Given the description of an element on the screen output the (x, y) to click on. 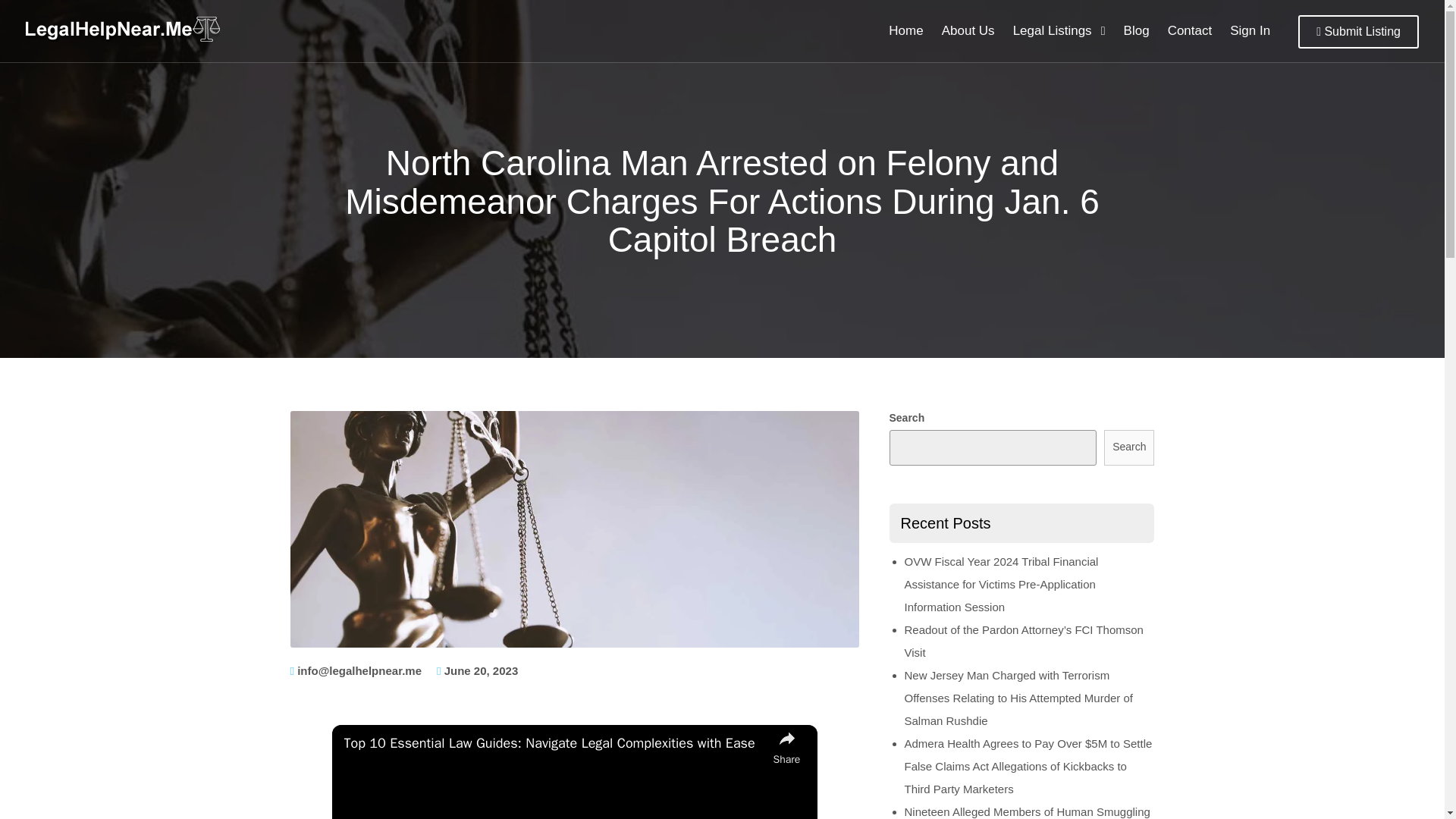
About Us (968, 31)
Contact (1189, 31)
Legal Listings (1059, 31)
Sign In (1250, 31)
June 20, 2023 (481, 670)
Search (1128, 447)
Submit Listing (1358, 31)
